Given the description of an element on the screen output the (x, y) to click on. 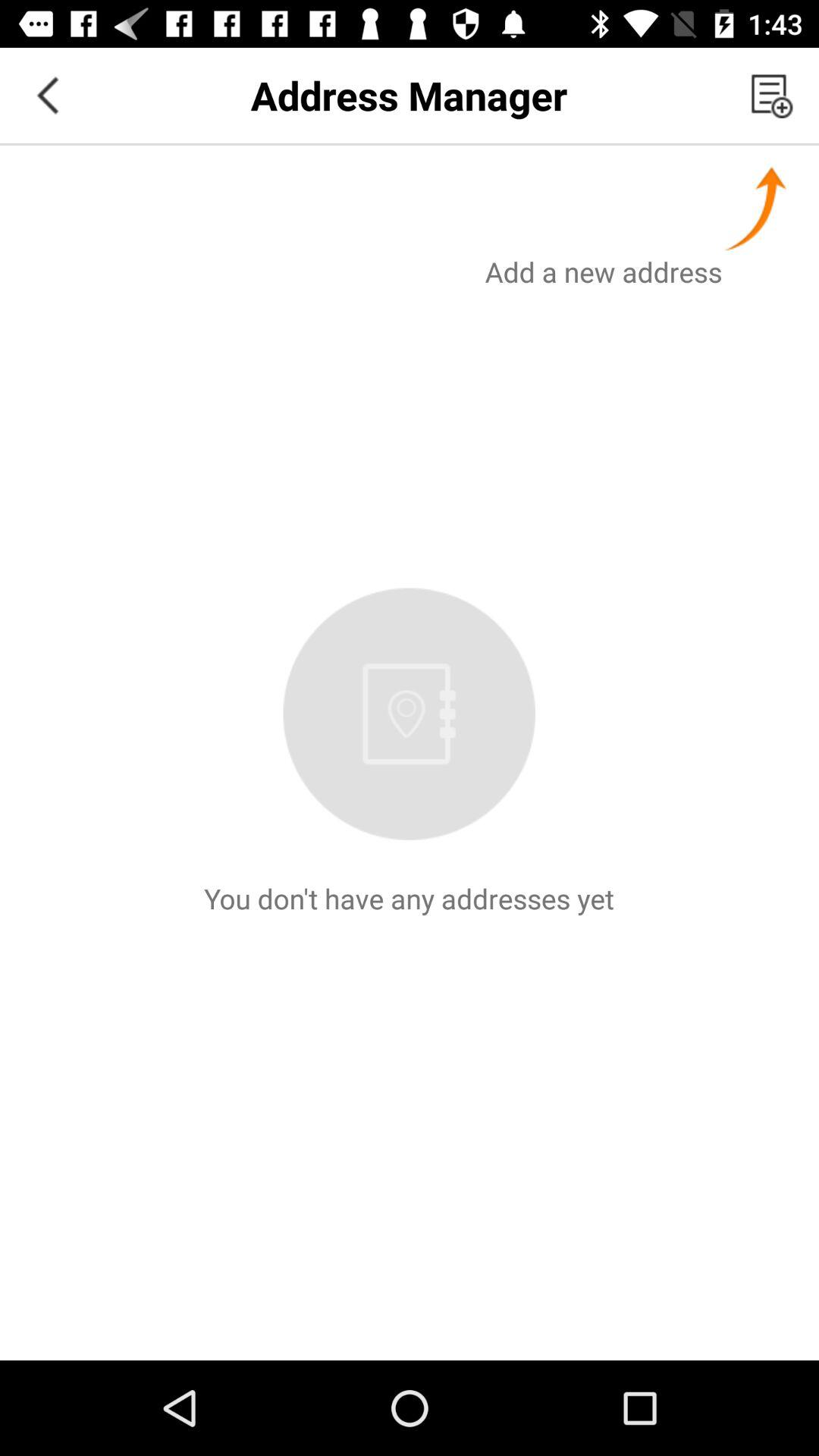
go back (47, 95)
